Given the description of an element on the screen output the (x, y) to click on. 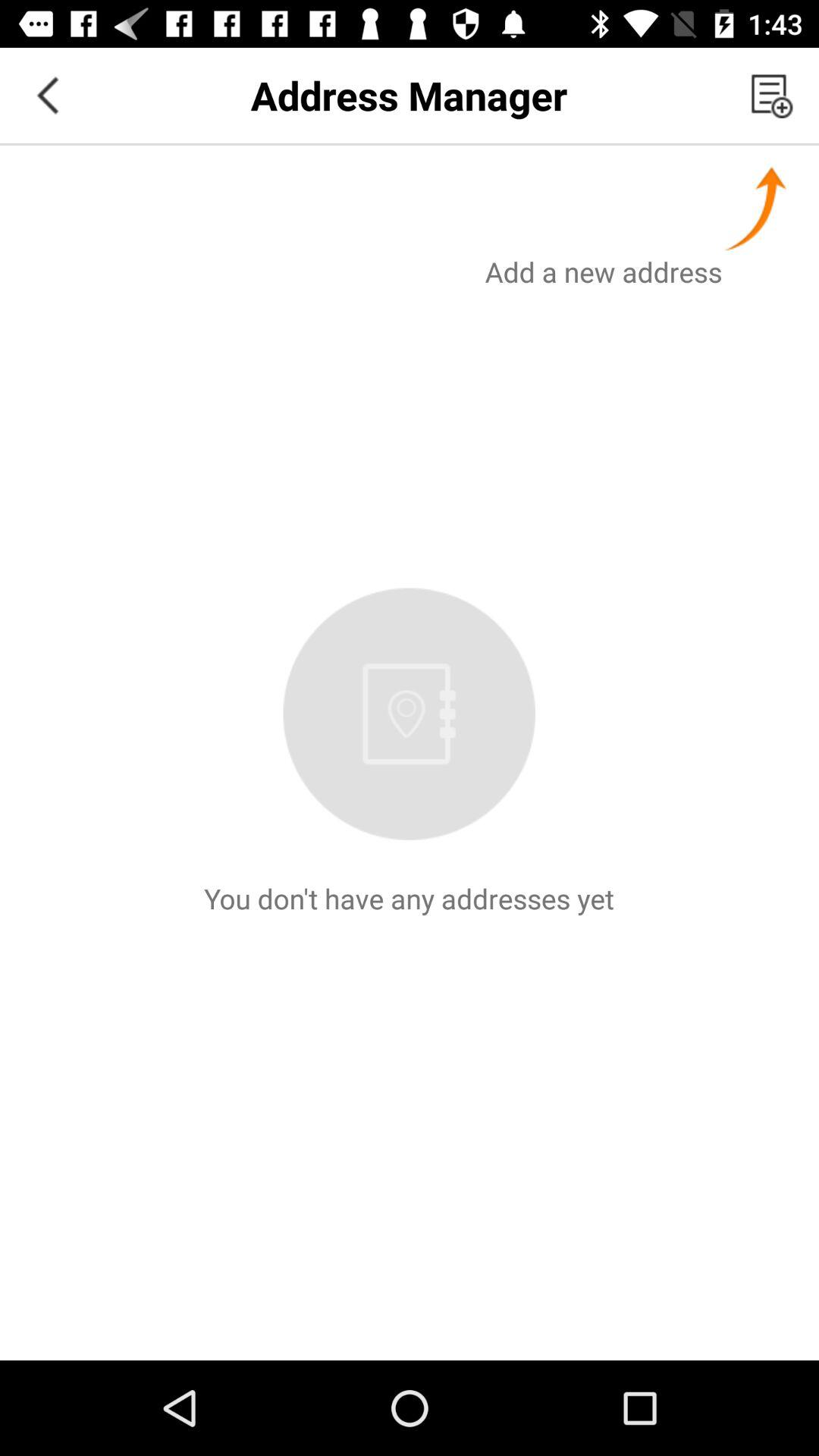
go back (47, 95)
